Given the description of an element on the screen output the (x, y) to click on. 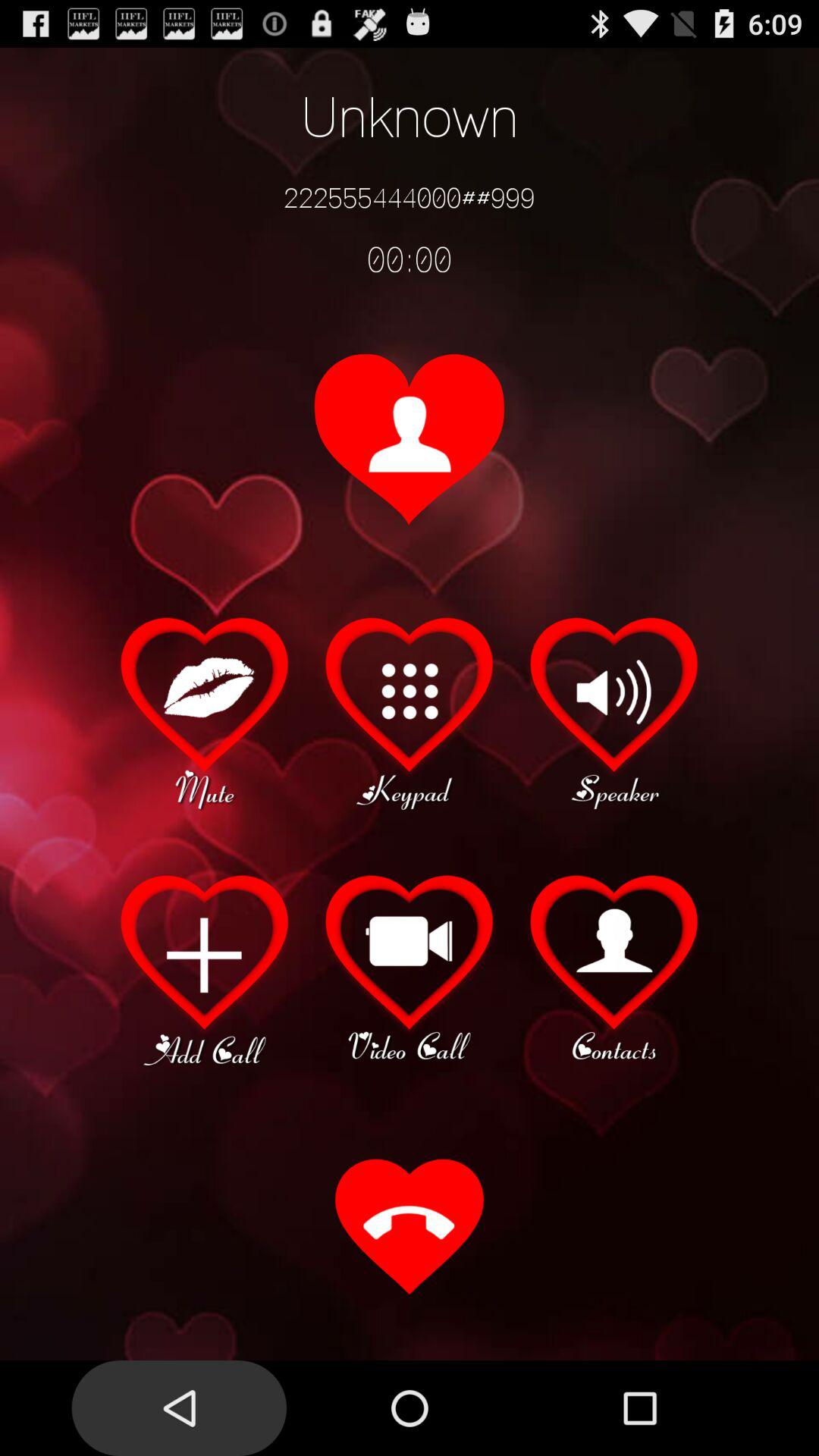
go to add (204, 968)
